Given the description of an element on the screen output the (x, y) to click on. 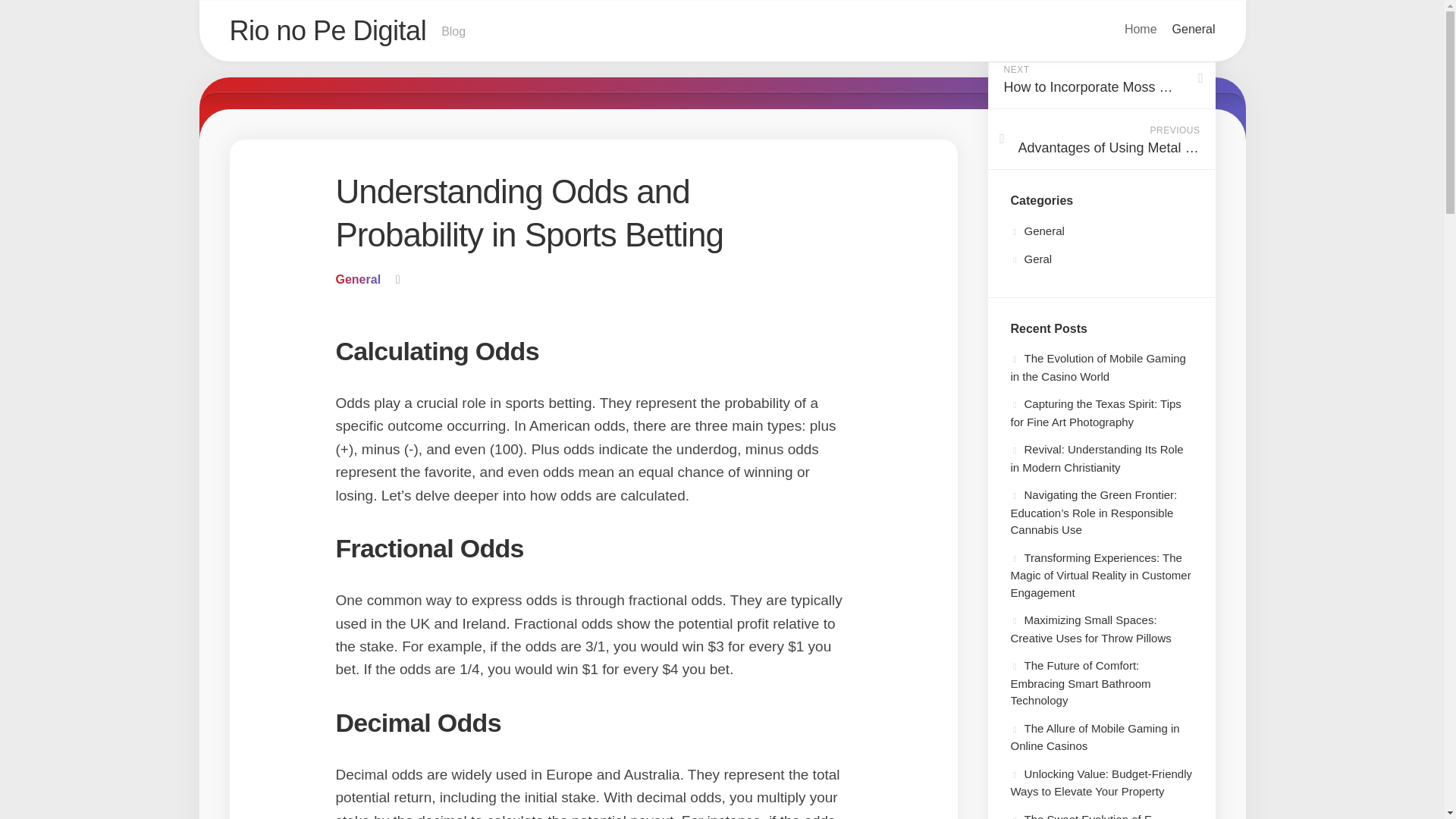
The Allure of Mobile Gaming in Online Casinos (1094, 736)
Maximizing Small Spaces: Creative Uses for Throw Pillows (1090, 628)
Home (1140, 29)
Capturing the Texas Spirit: Tips for Fine Art Photography (1095, 412)
Rio no Pe Digital (1100, 78)
Revival: Understanding Its Role in Modern Christianity (721, 31)
